Given the description of an element on the screen output the (x, y) to click on. 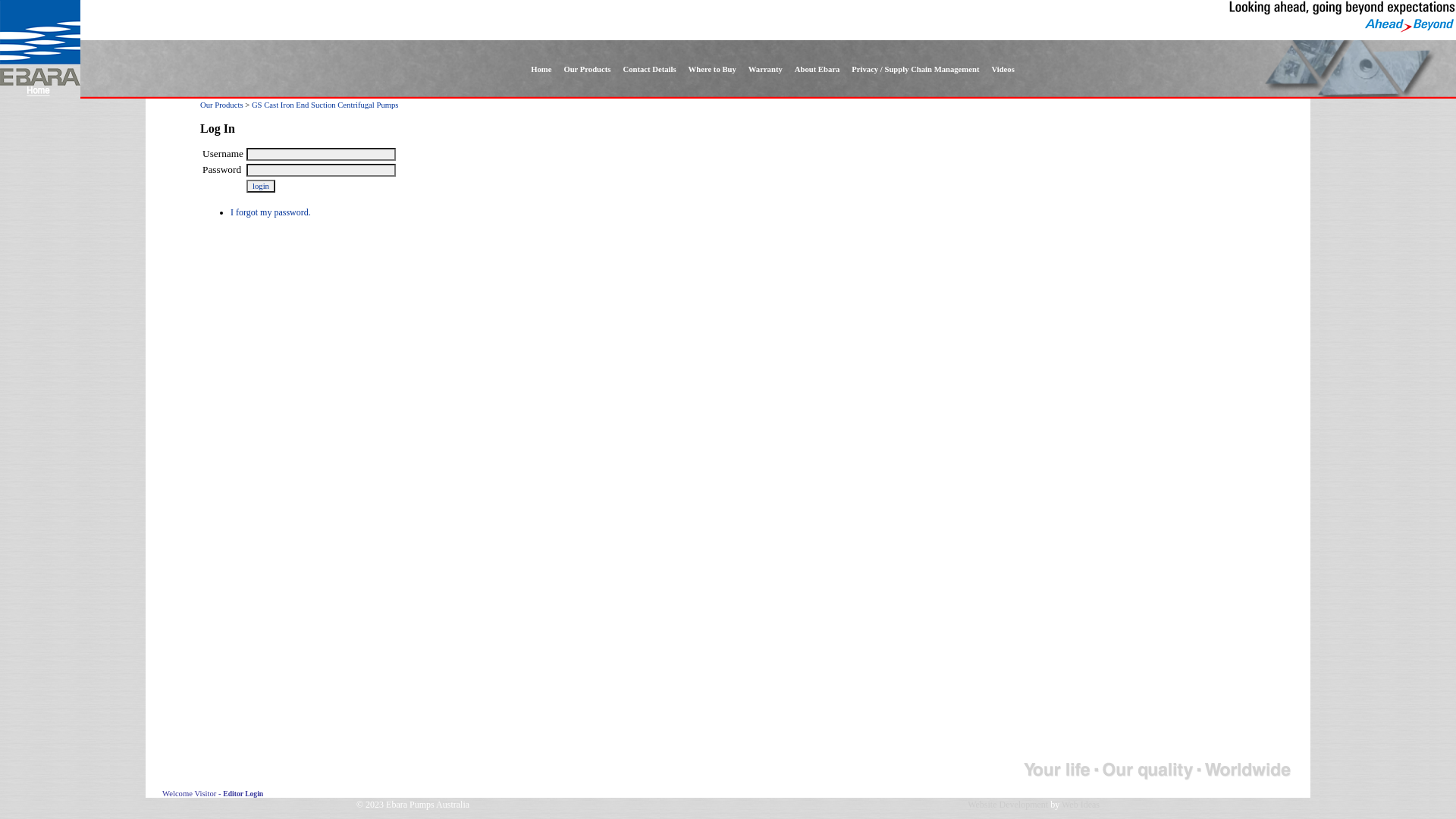
Contact Details Element type: text (648, 69)
Home Element type: text (540, 69)
I forgot my password. Element type: text (270, 212)
login Element type: text (260, 185)
GS Cast Iron End Suction Centrifugal Pumps Element type: text (324, 104)
Our Products Element type: text (586, 69)
Editor Login Element type: text (242, 793)
Website Development Element type: text (1007, 804)
About Ebara Element type: text (817, 69)
Privacy / Supply Chain Management Element type: text (915, 69)
Videos Element type: text (1002, 69)
Warranty Element type: text (765, 69)
Web Ideas Element type: text (1080, 804)
Our Products Element type: text (221, 104)
Where to Buy Element type: text (712, 69)
